Given the description of an element on the screen output the (x, y) to click on. 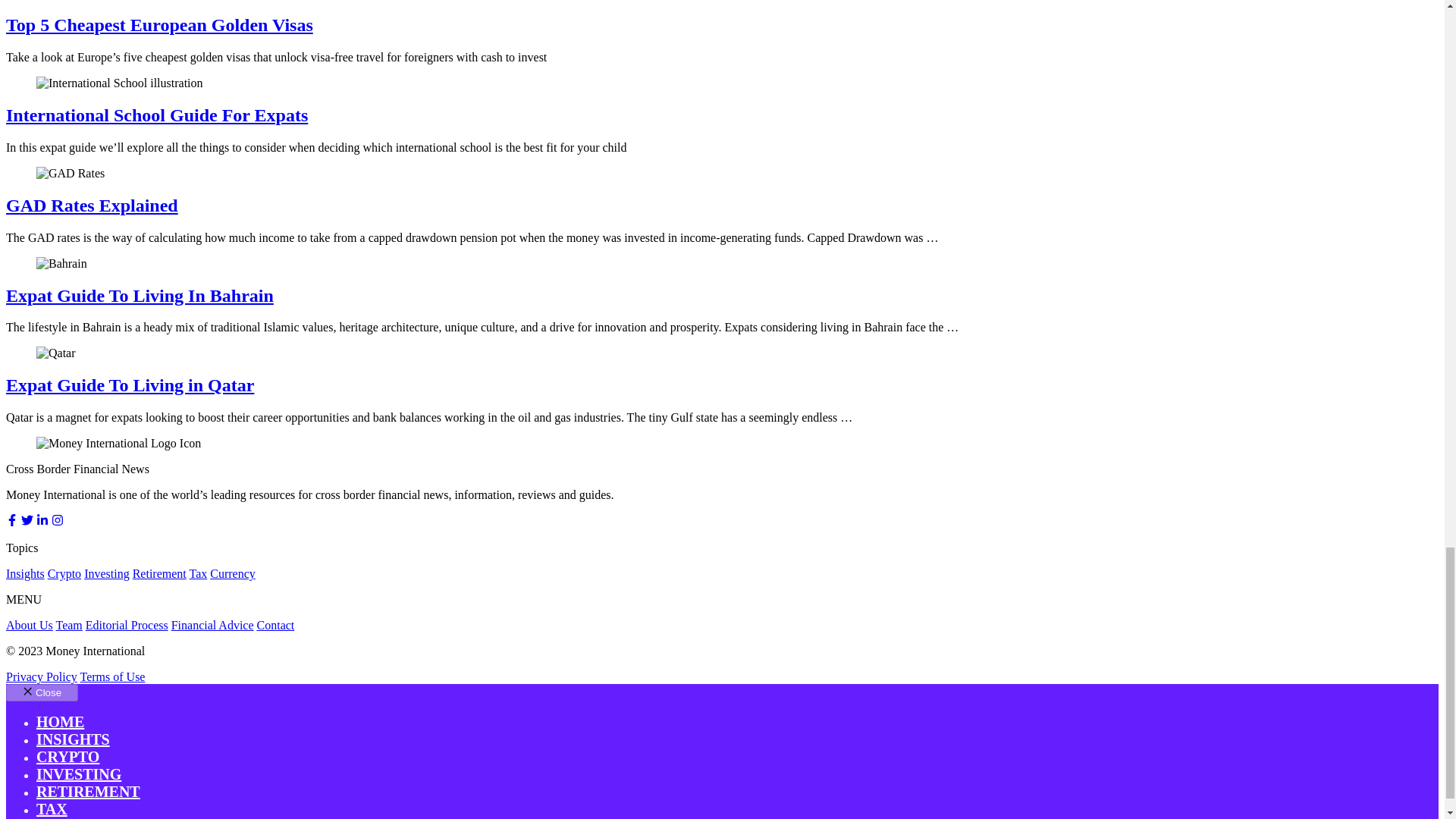
Expat Guide To Living In Bahrain (139, 295)
Top 5 Cheapest European Golden Visas (159, 25)
Tax (197, 573)
International School Guide For Expats (156, 115)
Currency (232, 573)
Expat Guide To Living in Qatar (129, 384)
Retirement (159, 573)
Insights (25, 573)
Investing (106, 573)
Crypto (64, 573)
About Us (28, 625)
GAD Rates Explained (91, 205)
Team (69, 625)
